Given the description of an element on the screen output the (x, y) to click on. 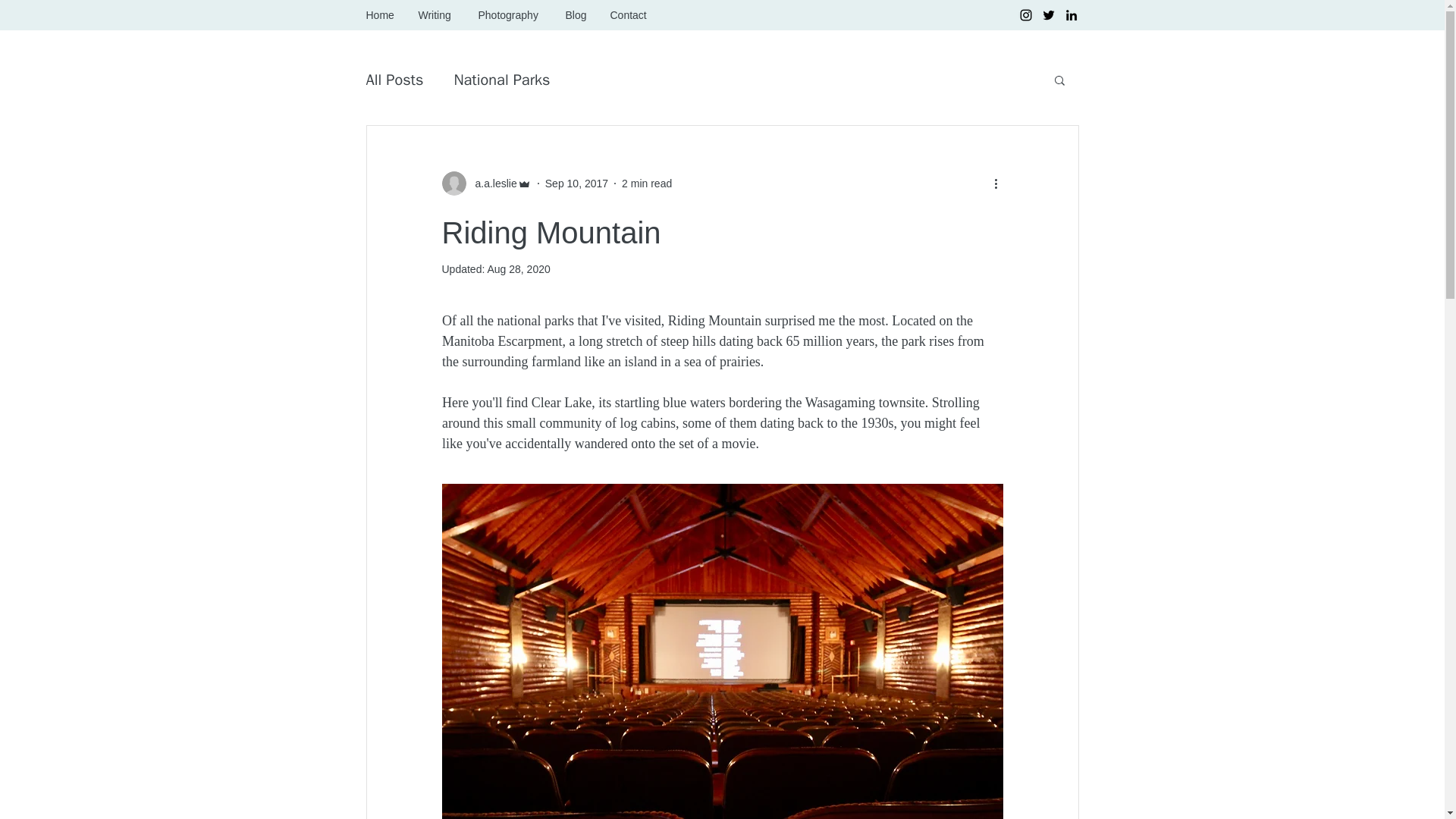
National Parks (501, 79)
a.a.leslie (490, 183)
Blog (575, 15)
Sep 10, 2017 (576, 183)
Aug 28, 2020 (518, 268)
Contact (629, 15)
2 min read (646, 183)
Home (381, 15)
Photography (510, 15)
Writing (435, 15)
All Posts (394, 79)
